Given the description of an element on the screen output the (x, y) to click on. 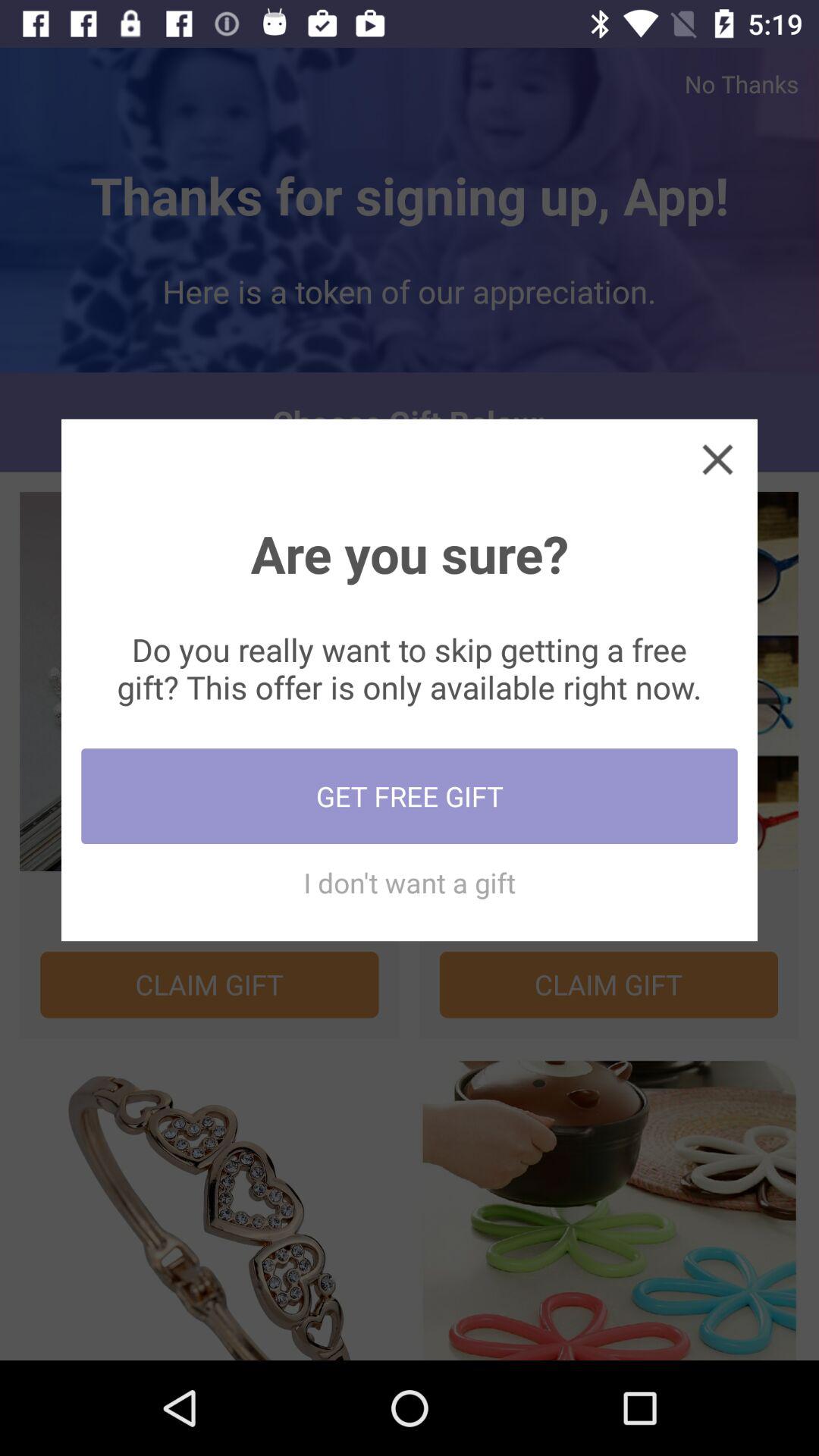
go to close (717, 458)
